Given the description of an element on the screen output the (x, y) to click on. 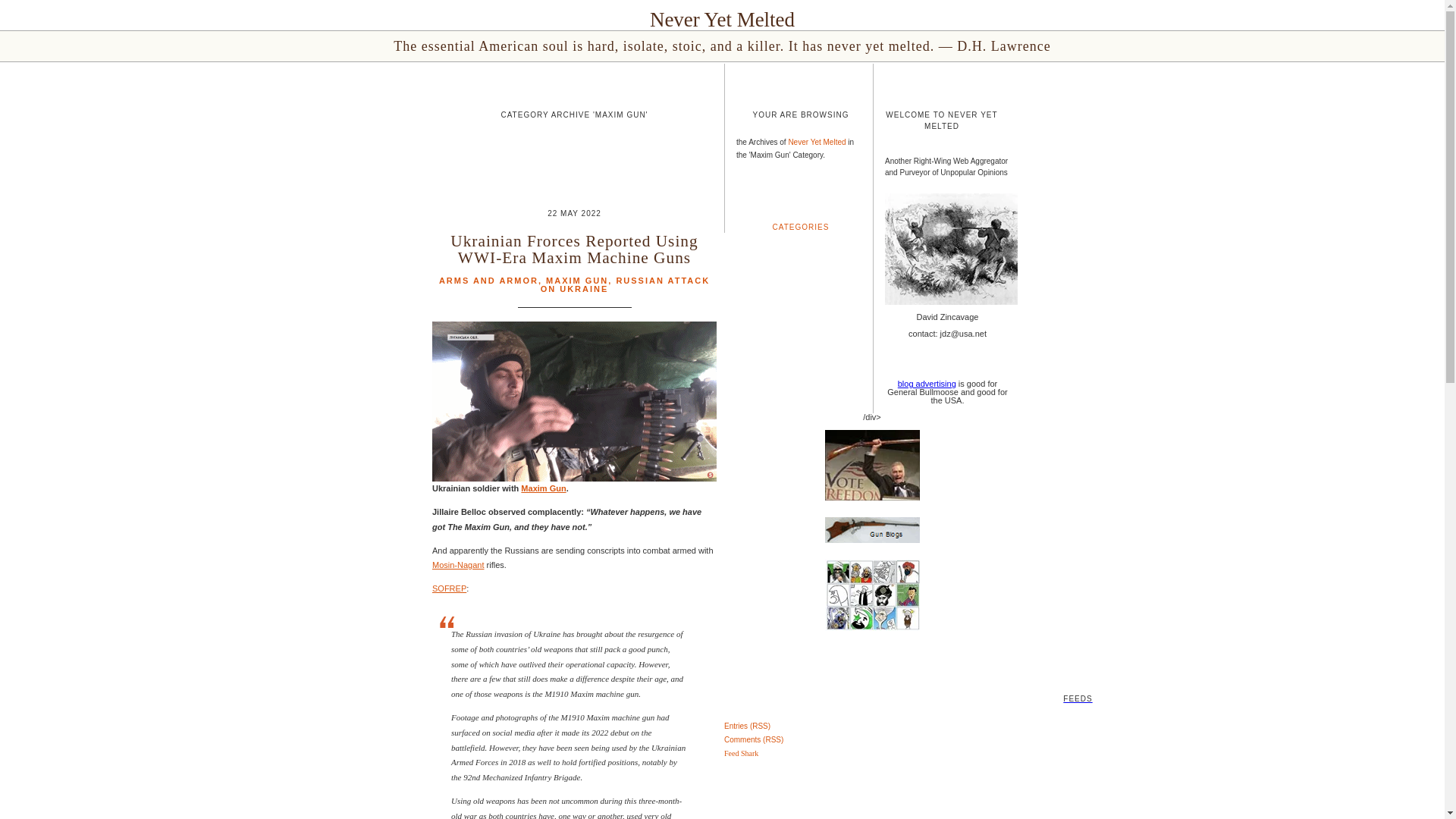
Ukrainian Frorces Reported Using WWI-Era Maxim Machine Guns (573, 248)
RUSSIAN ATTACK ON UKRAINE (625, 284)
ARMS AND ARMOR (488, 280)
SOFREP (448, 587)
FEEDS (721, 675)
CATEGORIES (801, 226)
Never Yet Melted (816, 142)
blog advertising (927, 383)
MAXIM GUN (577, 280)
Mosin-Nagant (457, 564)
